Given the description of an element on the screen output the (x, y) to click on. 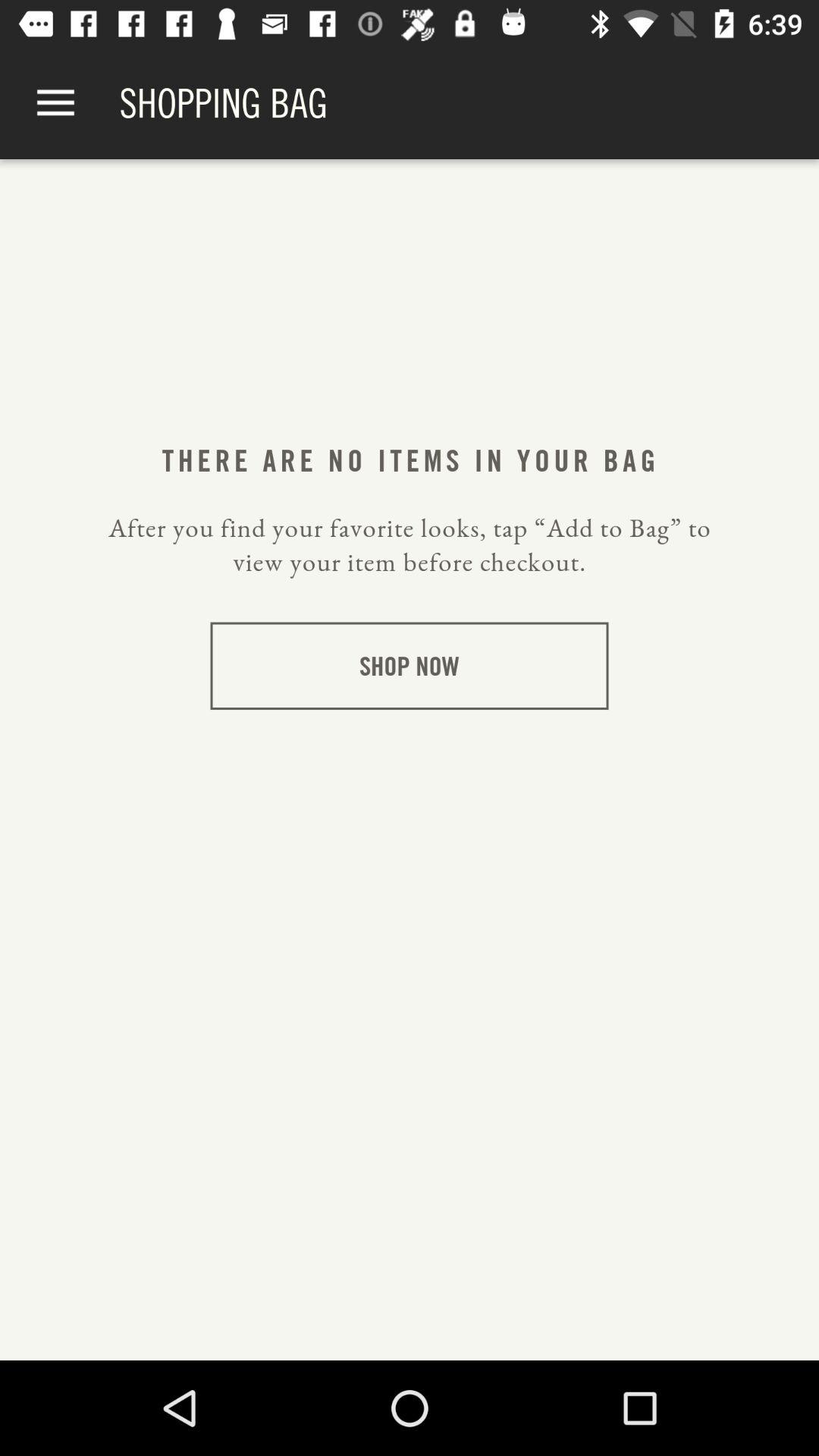
swipe until shop now item (409, 665)
